Given the description of an element on the screen output the (x, y) to click on. 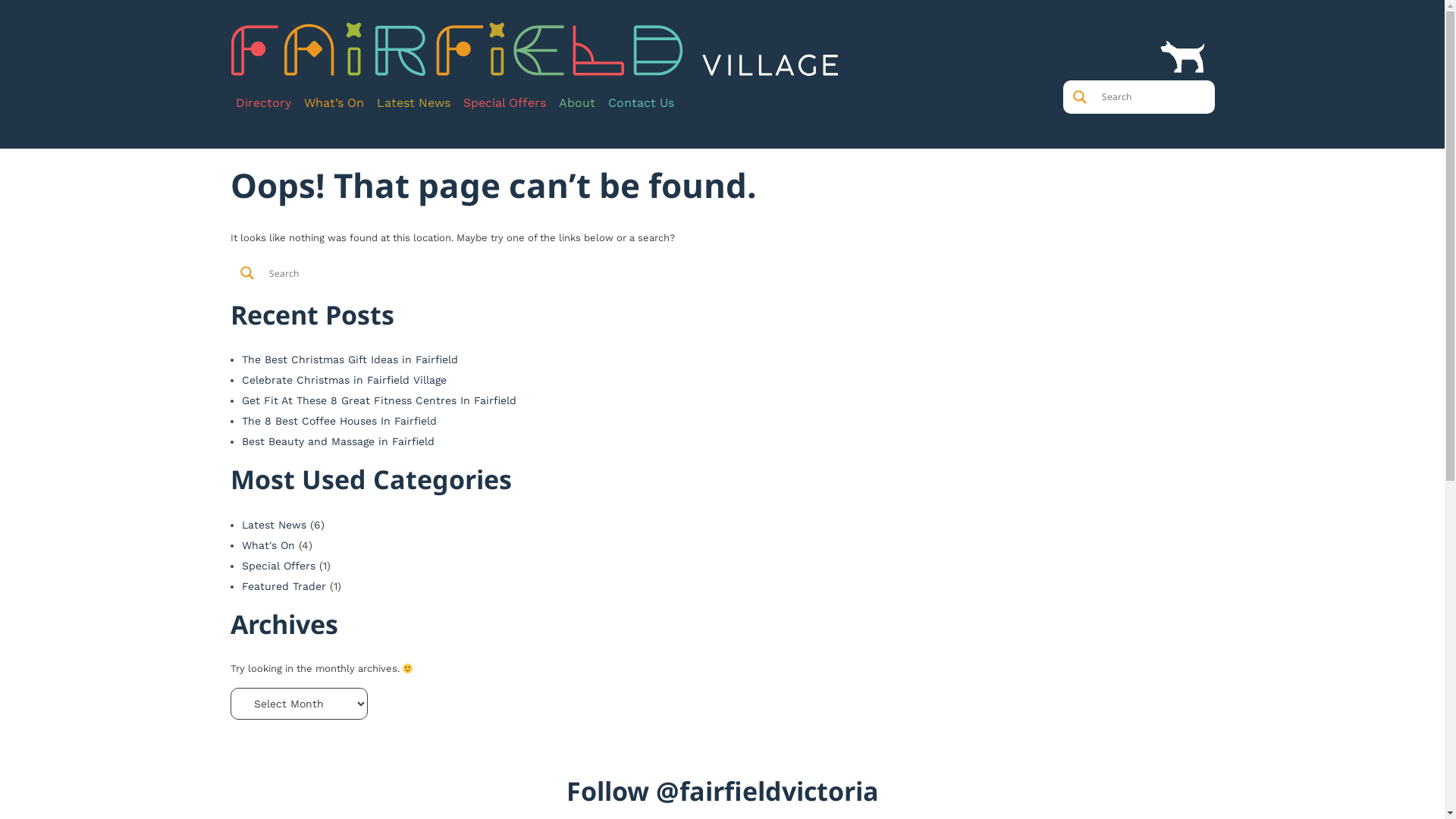
Special Offers Element type: text (277, 565)
Follow @fairfieldvictoria Element type: text (721, 790)
Best Beauty and Massage in Fairfield Element type: text (337, 441)
Latest News Element type: text (413, 102)
Get Fit At These 8 Great Fitness Centres In Fairfield Element type: text (378, 400)
The Best Christmas Gift Ideas in Fairfield Element type: text (349, 359)
Special Offers Element type: text (504, 102)
Featured Trader Element type: text (283, 586)
What's On Element type: text (267, 545)
About Element type: text (576, 102)
Latest News Element type: text (273, 524)
Directory Element type: text (263, 102)
Celebrate Christmas in Fairfield Village Element type: text (343, 379)
The 8 Best Coffee Houses In Fairfield Element type: text (338, 420)
Contact Us Element type: text (640, 102)
